Given the description of an element on the screen output the (x, y) to click on. 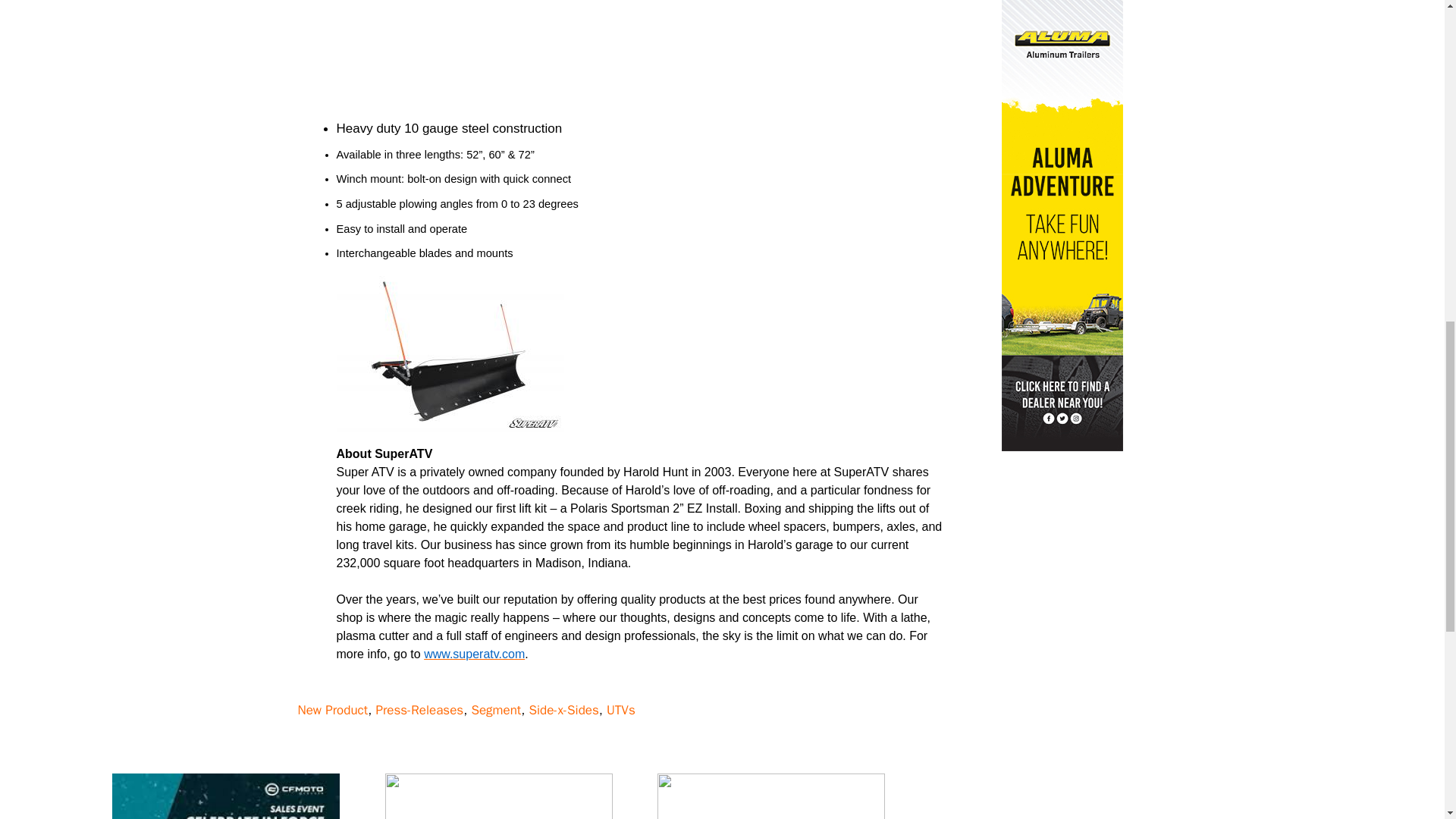
New Product (332, 709)
Side-x-Sides (563, 709)
Press-Releases (419, 709)
UTVs (620, 709)
www.superatv.com (473, 654)
Segment (495, 709)
